Given the description of an element on the screen output the (x, y) to click on. 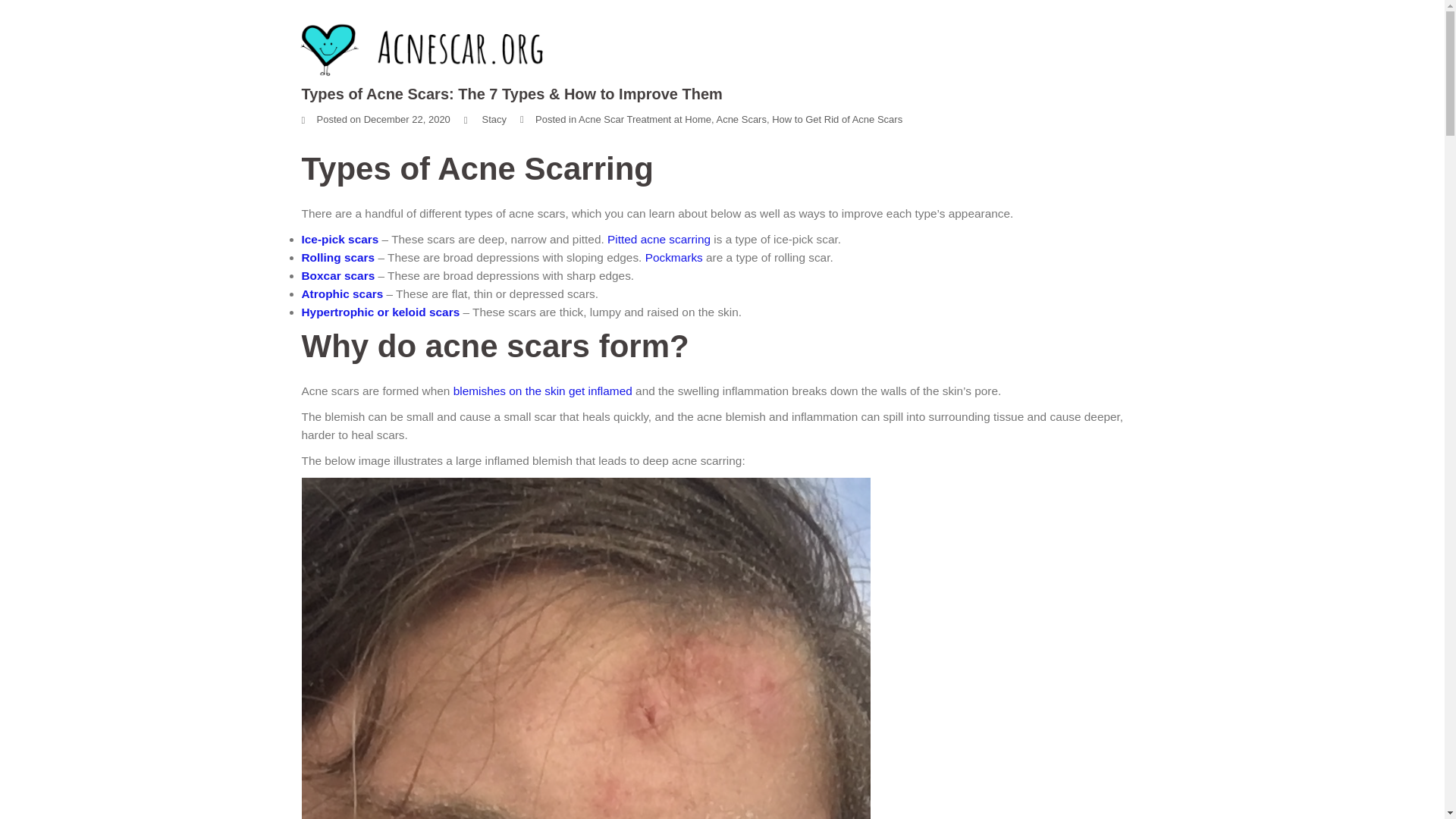
Acne Scar Treatment at Home (644, 119)
Contact (1124, 24)
Acne Scars (740, 119)
Pitted acne scarring (658, 238)
How to Get Rid of Acne Scars (836, 119)
blemishes on the skin get inflamed (541, 390)
Hypertrophic or keloid scars (380, 311)
AcneScar.org (425, 49)
Boxcar scars (338, 275)
December 22, 2020 (406, 119)
